Given the description of an element on the screen output the (x, y) to click on. 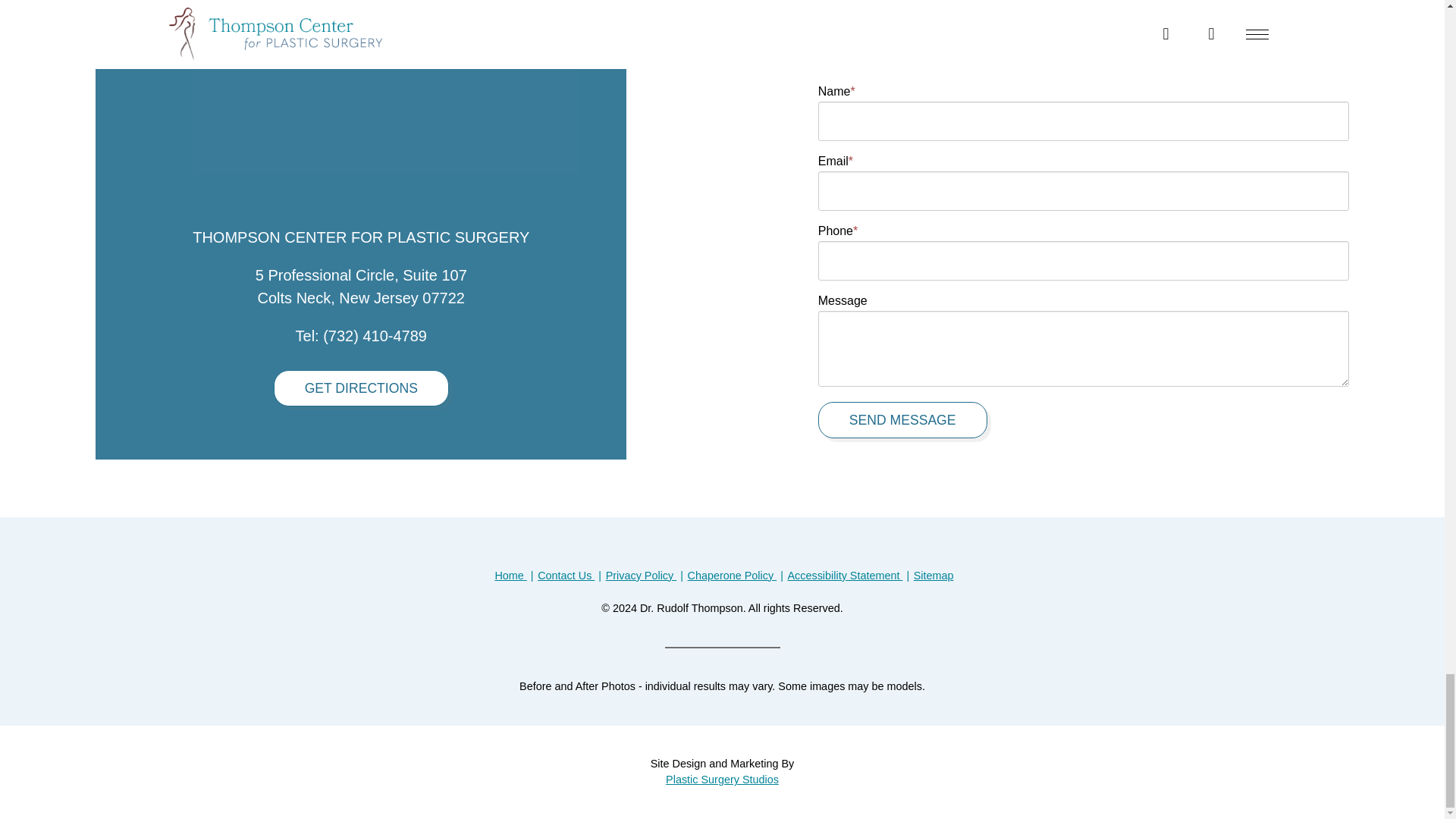
Call us: 7324104789 (374, 335)
